Given the description of an element on the screen output the (x, y) to click on. 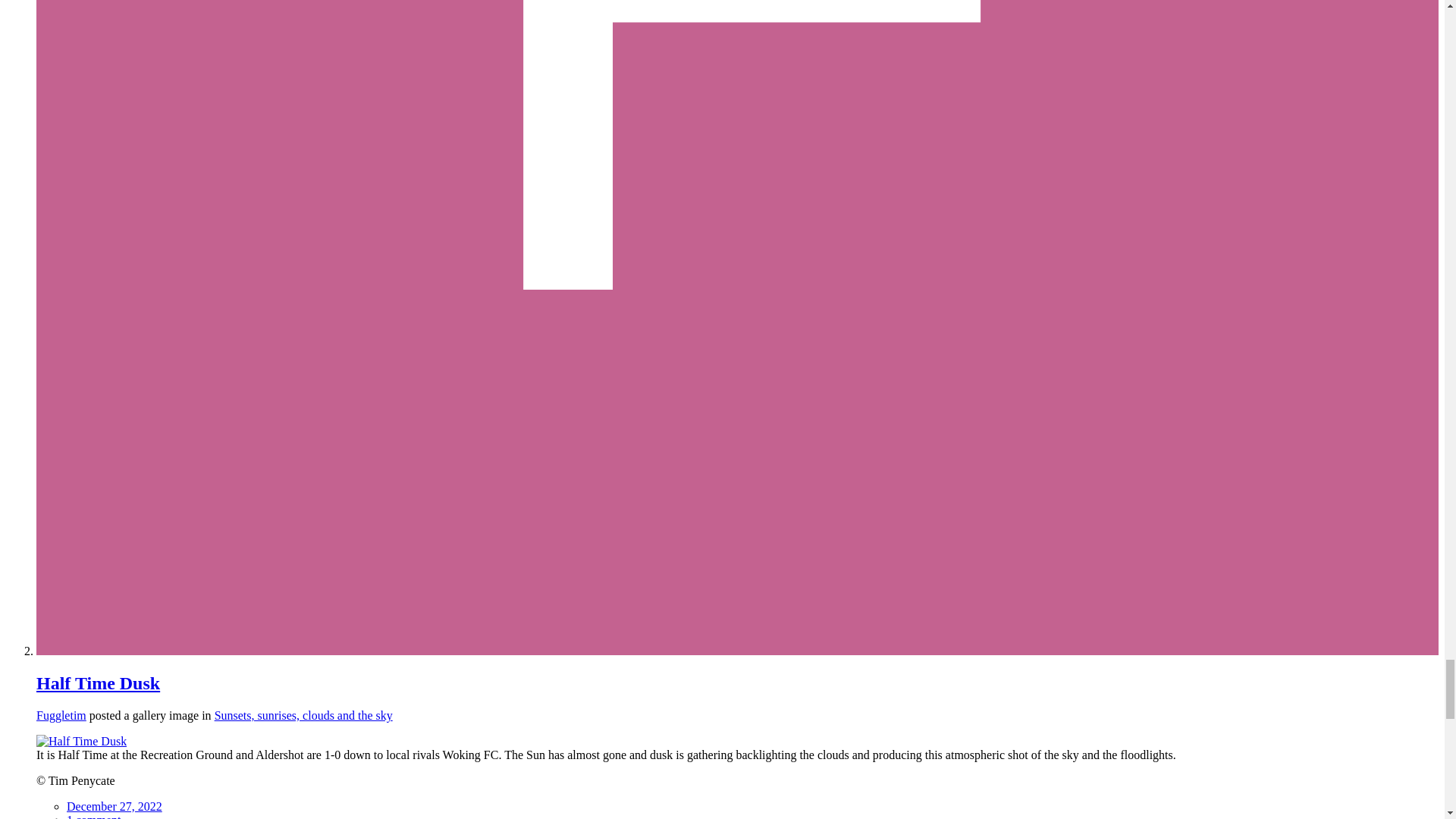
View the image Half Time Dusk (81, 740)
Go to Fuggletim's profile (60, 715)
